Given the description of an element on the screen output the (x, y) to click on. 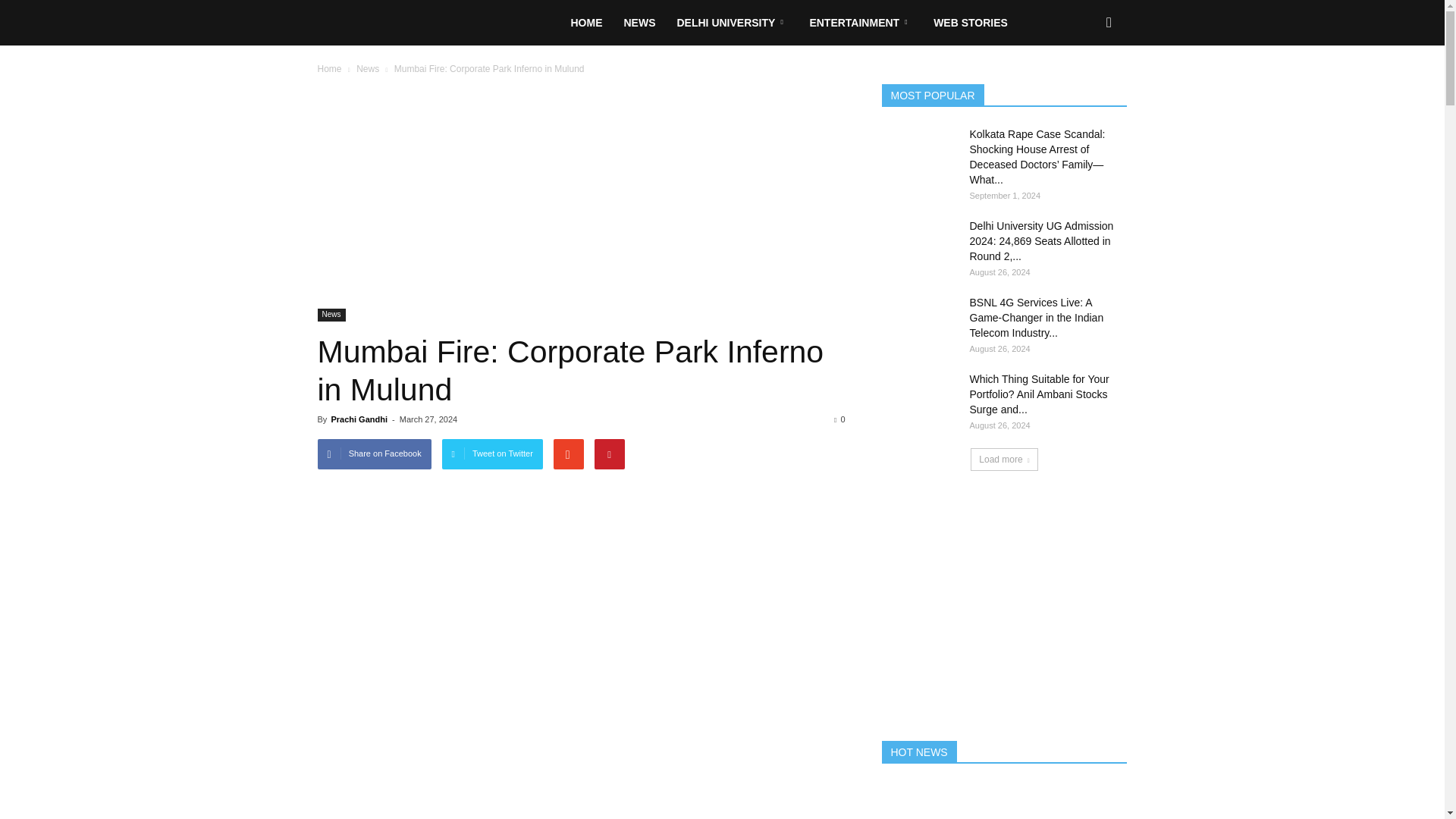
ENTERTAINMENT (860, 22)
View all posts in News (368, 68)
HOME (585, 22)
DU Updates (438, 22)
DELHI UNIVERSITY (731, 22)
NEWS (638, 22)
